Given the description of an element on the screen output the (x, y) to click on. 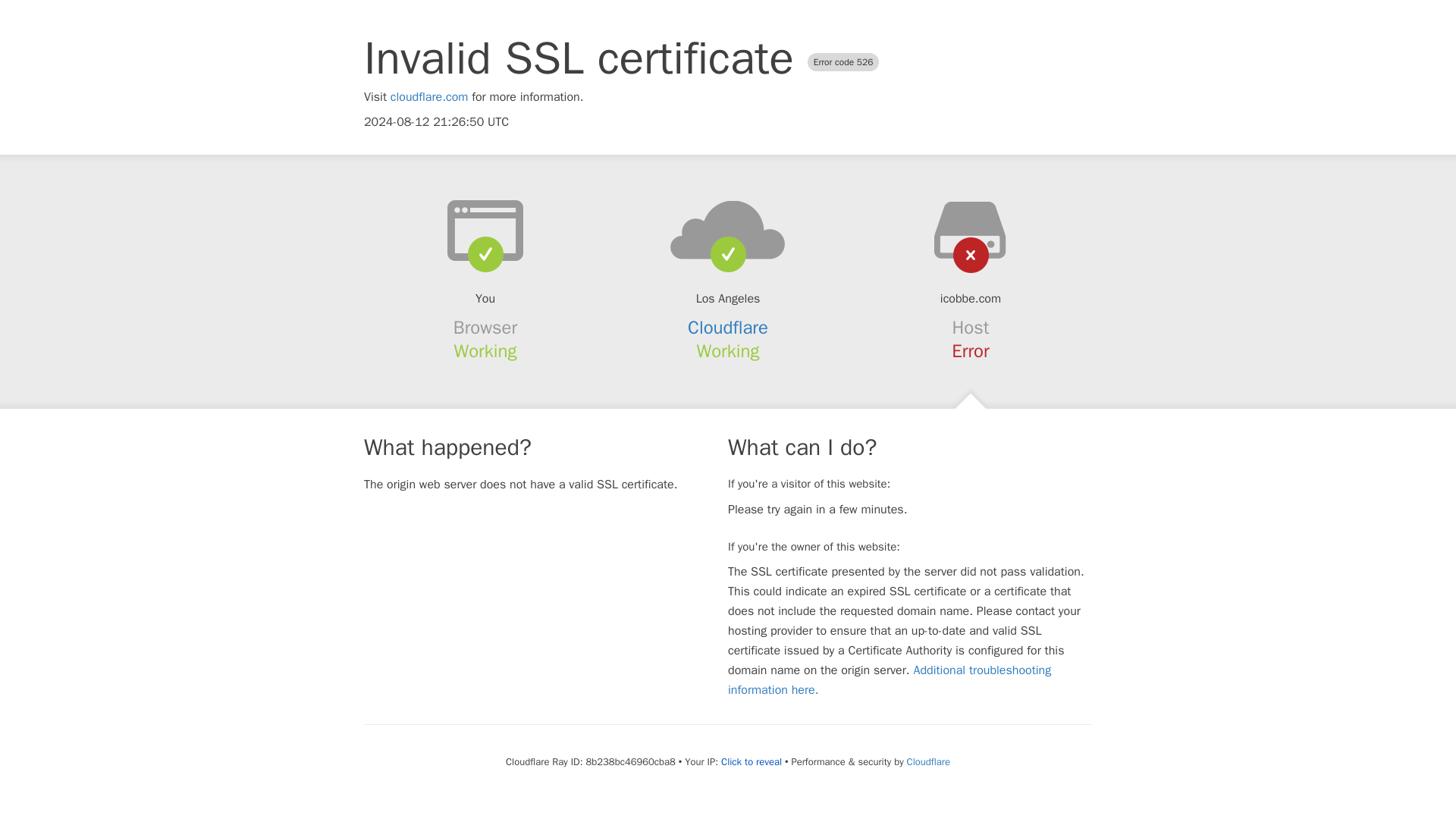
cloudflare.com (429, 96)
Cloudflare (727, 327)
Cloudflare (928, 761)
Additional troubleshooting information here. (889, 679)
Click to reveal (750, 762)
